Given the description of an element on the screen output the (x, y) to click on. 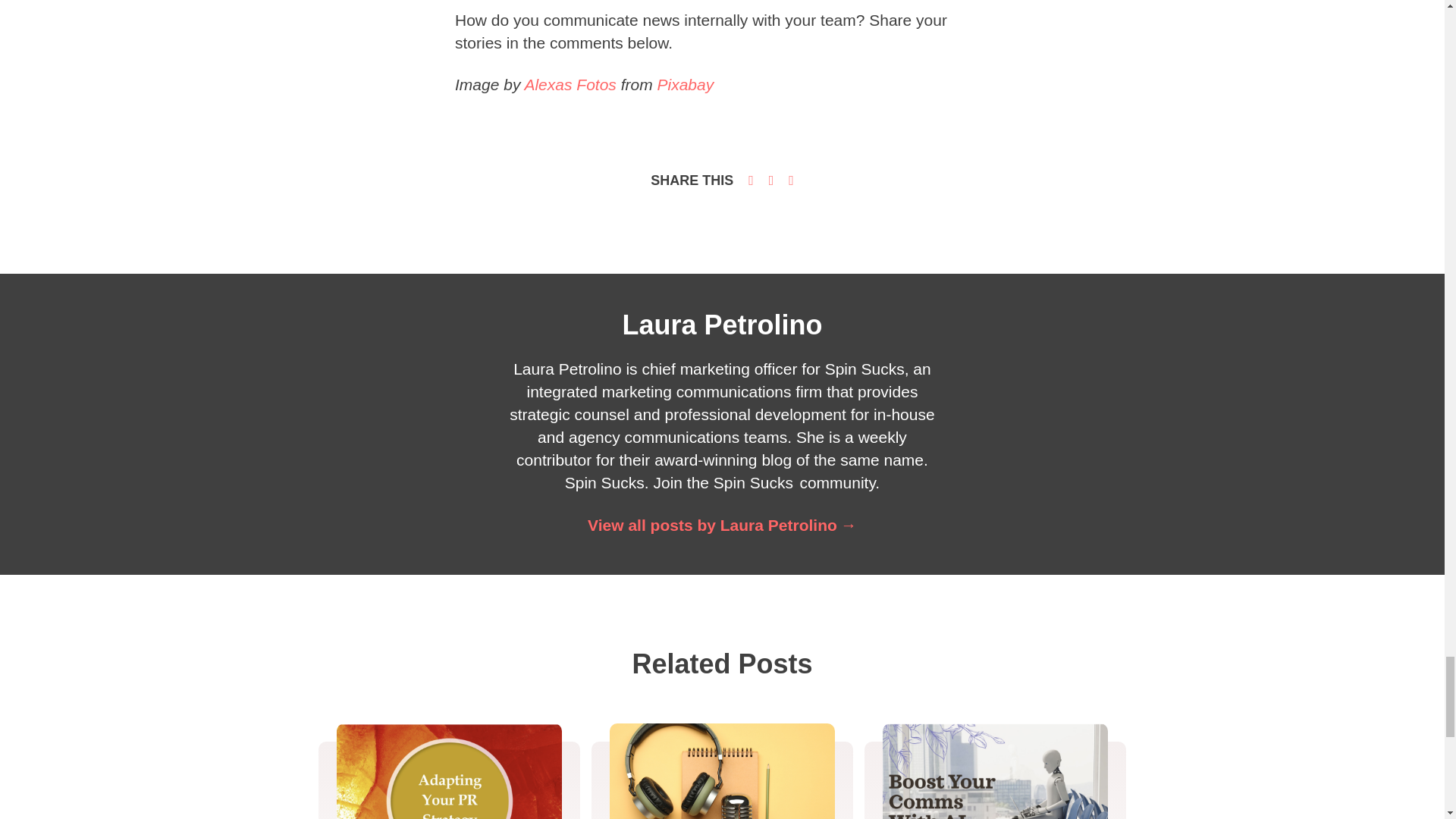
Pixabay (684, 84)
Spin Sucks (753, 482)
Spin Sucks (604, 482)
Alexas Fotos (569, 84)
View all posts by Laura Petrolino (722, 524)
